Given the description of an element on the screen output the (x, y) to click on. 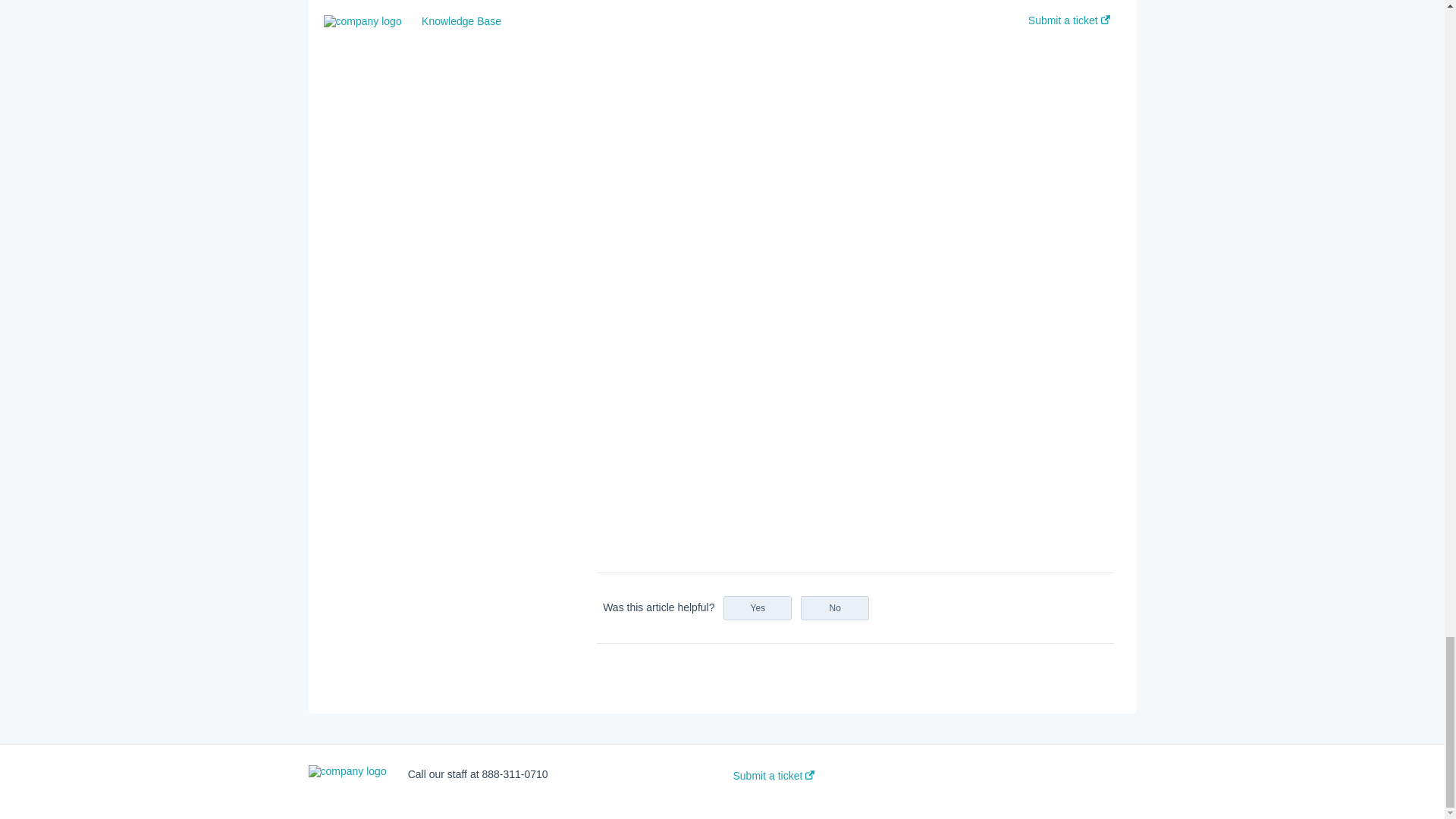
Submit a ticket (772, 775)
Yes (757, 607)
No (834, 607)
